Given the description of an element on the screen output the (x, y) to click on. 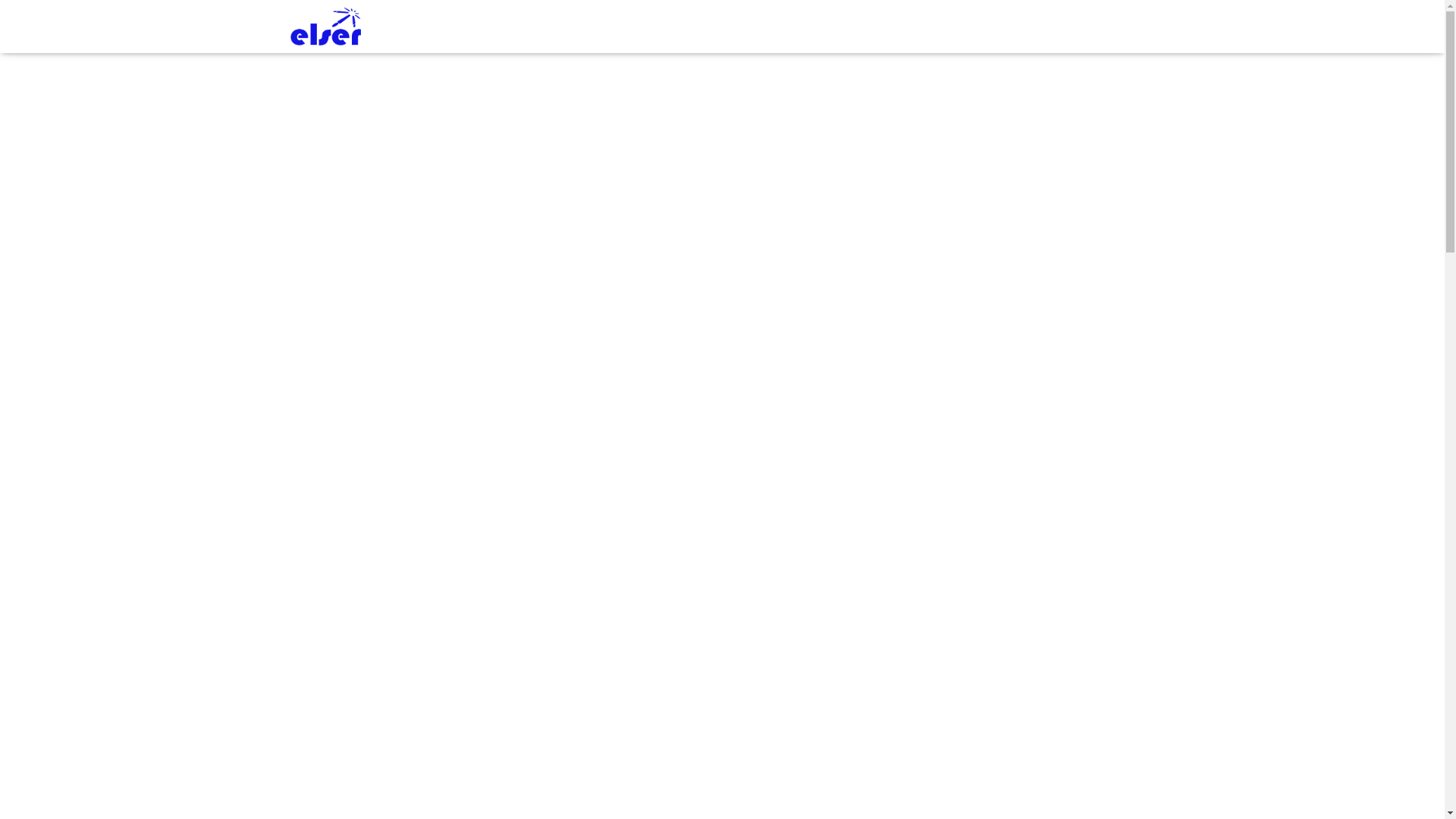
ELSER LLC Element type: hover (326, 26)
